Given the description of an element on the screen output the (x, y) to click on. 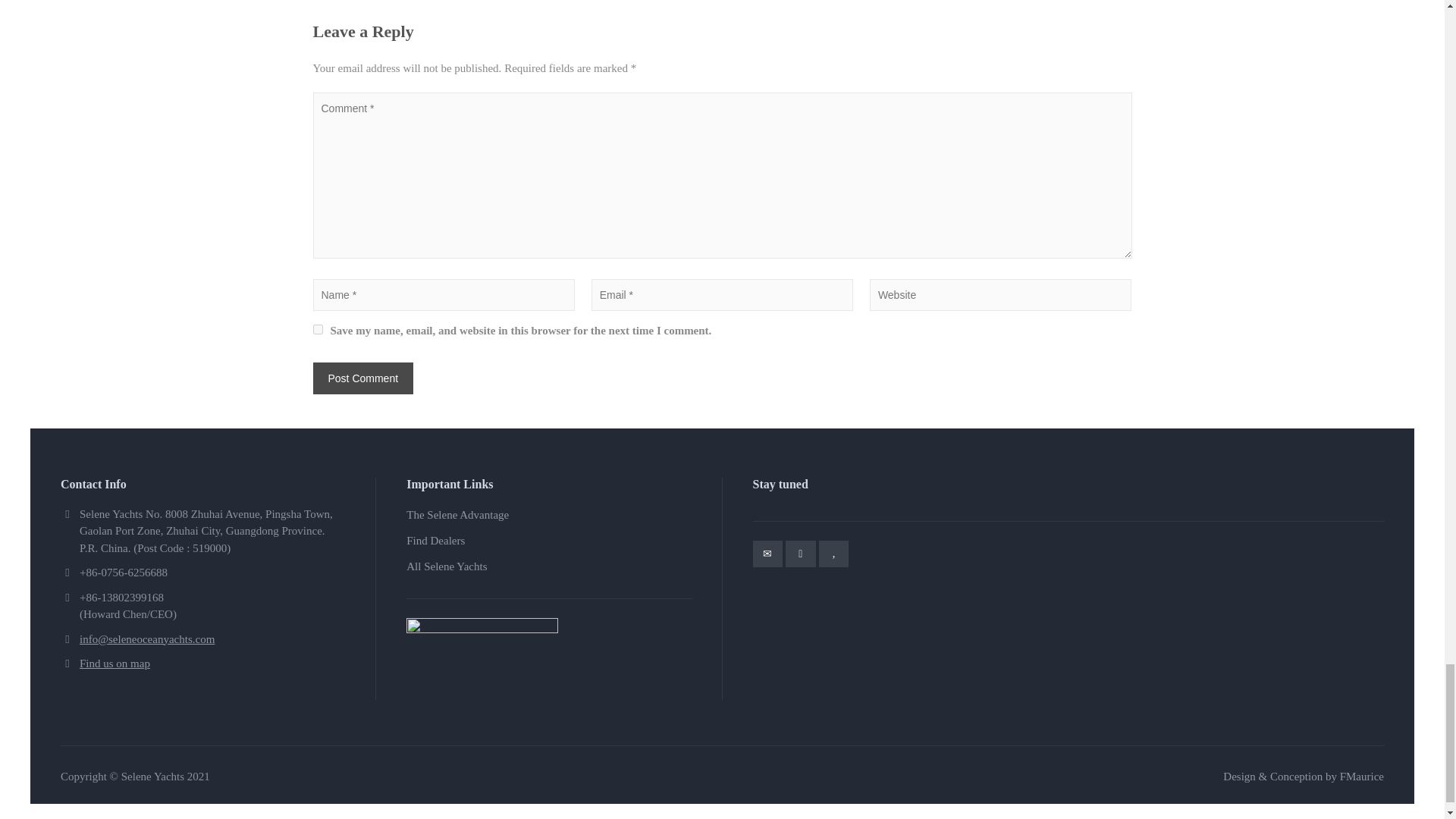
YouTube (833, 553)
Find us on map (114, 663)
yes (317, 329)
Post Comment (363, 377)
Facebook (800, 553)
Email (767, 553)
